Given the description of an element on the screen output the (x, y) to click on. 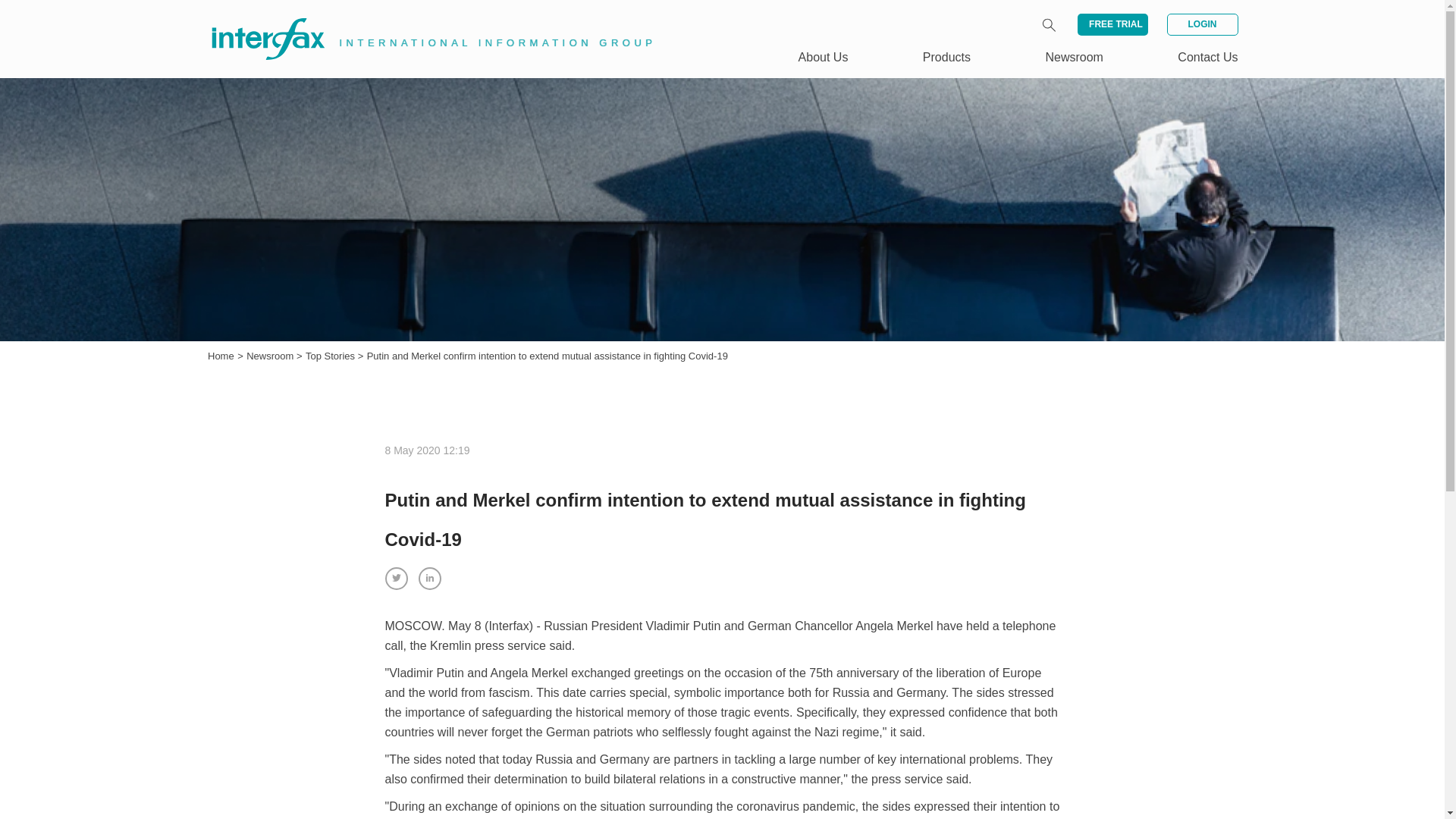
Newsroom (1073, 56)
LOGIN (1201, 24)
Home (221, 355)
FREE TRIAL (1112, 24)
INTERNATIONAL INFORMATION GROUP (421, 20)
Top Stories (331, 355)
Newsroom (271, 355)
Products (947, 56)
Newsroom (271, 355)
Contact Us (1207, 56)
